Given the description of an element on the screen output the (x, y) to click on. 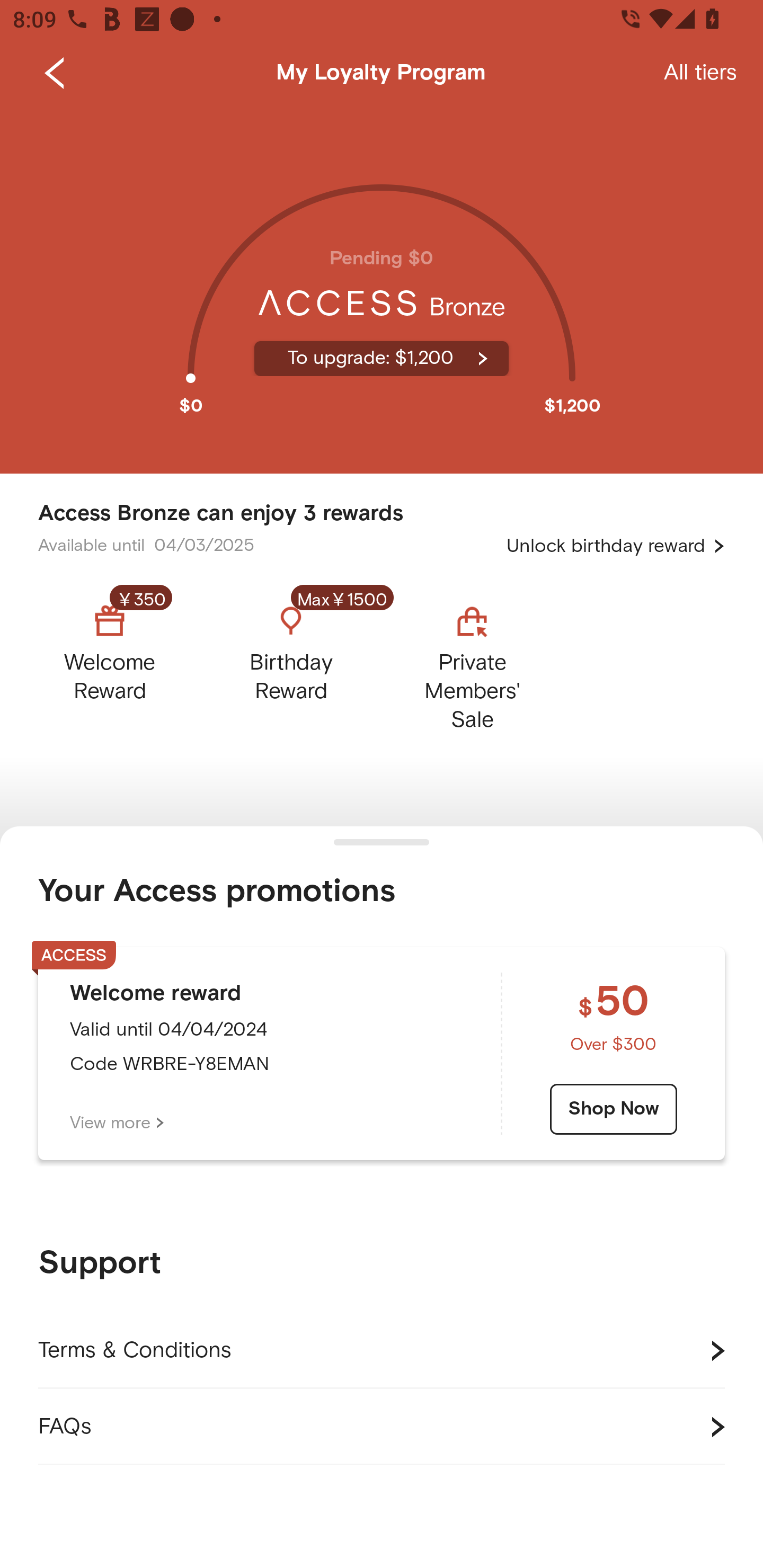
All tiers (700, 72)
Pending $0 To upgrade: $1,200 $0 $1,200 (381, 290)
Unlock birthday reward (615, 546)
￥350 Welcome Reward (125, 662)
Max￥1500 Birthday Reward (290, 662)
Private Members' Sale (471, 662)
Shop Now (613, 1109)
View more (117, 1123)
Terms & Conditions (381, 1350)
FAQs (381, 1426)
